Given the description of an element on the screen output the (x, y) to click on. 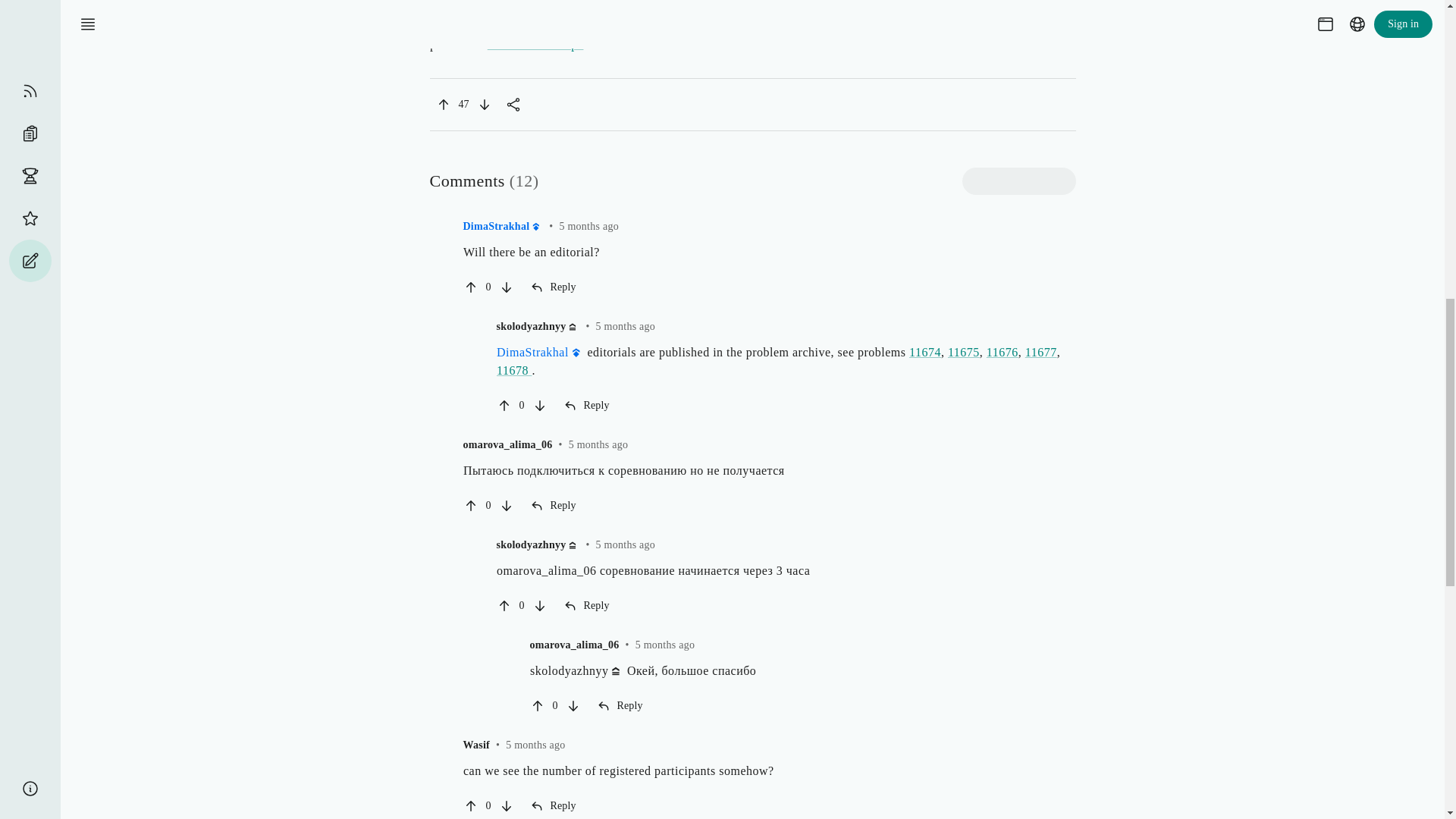
11675 (962, 351)
Mar 24, 2024, 12:40:38 PM (625, 544)
Reply (588, 405)
Reply (555, 505)
Mar 25, 2024, 7:29:46 AM (588, 225)
11678 (513, 369)
11677 (1041, 351)
Council of Europe (541, 43)
Mar 24, 2024, 8:49:20 AM (534, 745)
11676 (1001, 351)
